Given the description of an element on the screen output the (x, y) to click on. 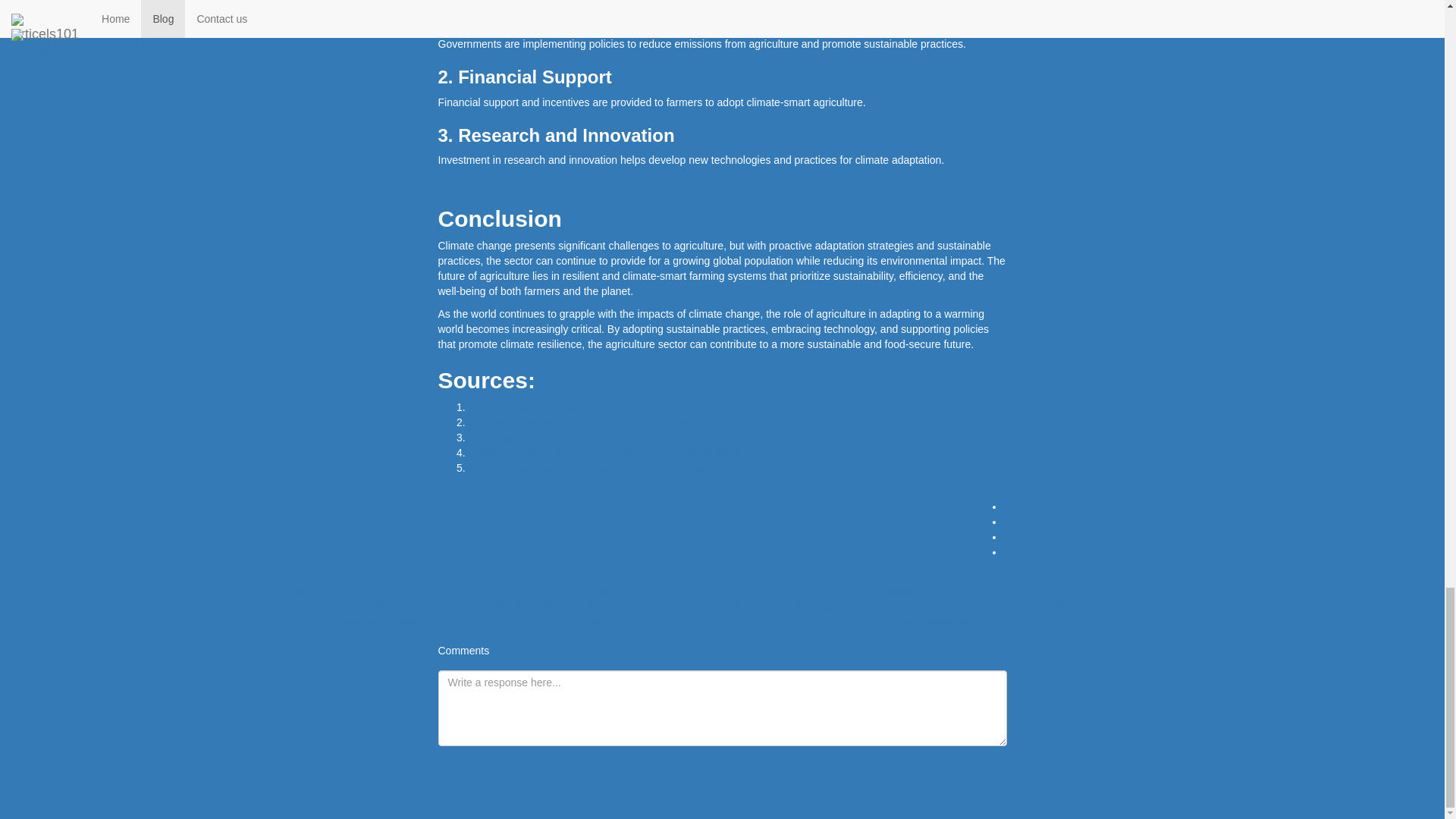
Agriculture (463, 491)
09Sep (304, 589)
Sustainable Agriculture and Climate Change - World Bank (604, 452)
Adapting to Climate Change in Agriculture - USDA (586, 437)
Impacts of Climate Change on Agriculture - IPCC (583, 422)
09Sep (896, 589)
Climate Change and Agriculture - FAO (558, 407)
09Sep (600, 589)
